Given the description of an element on the screen output the (x, y) to click on. 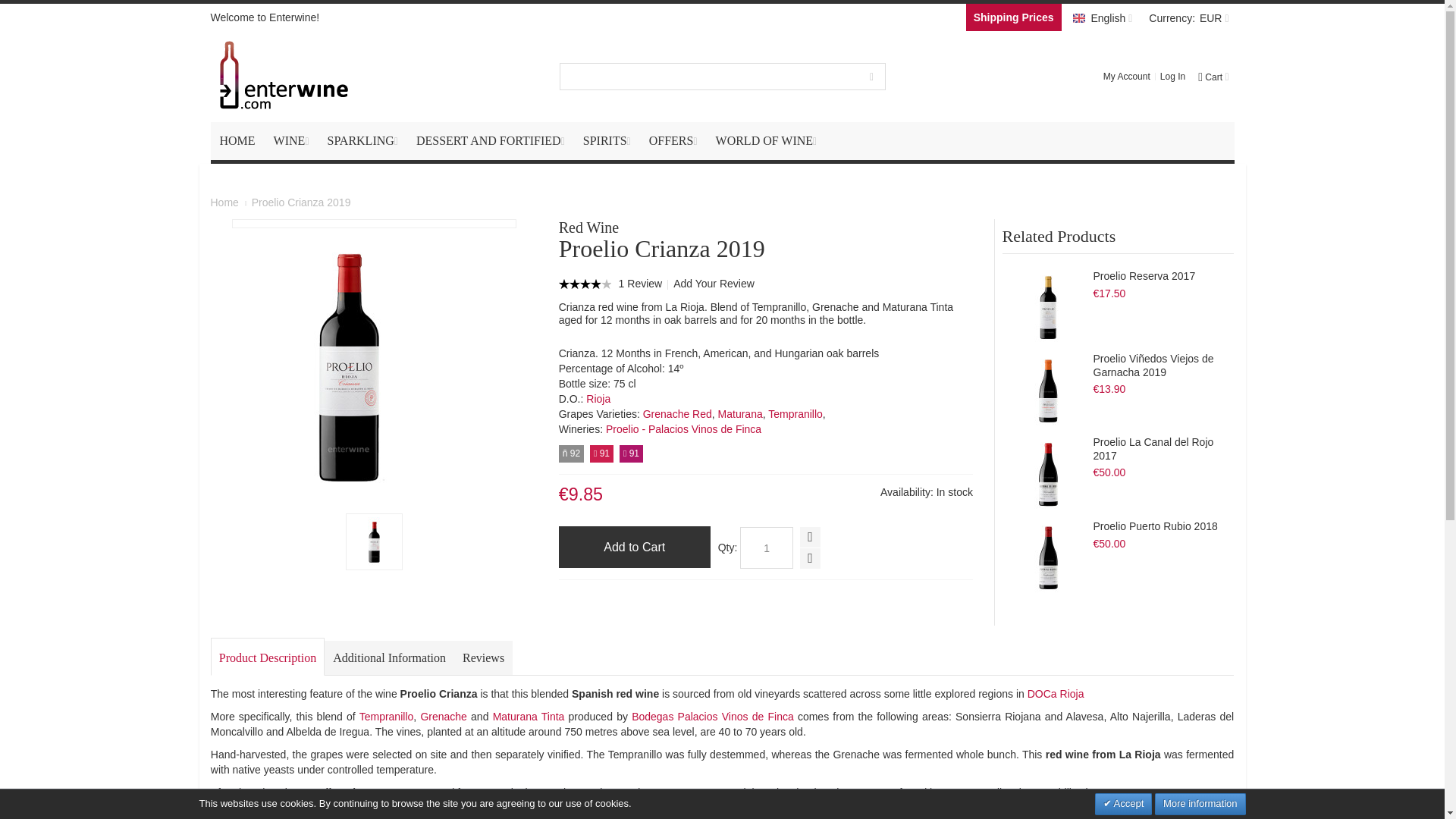
Proelio - Palacios Vinos de Finca (683, 428)
Shipping Prices (1013, 17)
  English (1101, 17)
Maturana (739, 413)
SPIRITS (606, 140)
My Account (1126, 76)
DESSERT AND FORTIFIED (490, 140)
1 (766, 547)
Enterwine's Score: 91 (600, 453)
My Account (1126, 76)
Cart (1212, 76)
HOME (237, 140)
Go to Home Page (224, 202)
Tempranillo (795, 413)
Rioja (598, 398)
